Given the description of an element on the screen output the (x, y) to click on. 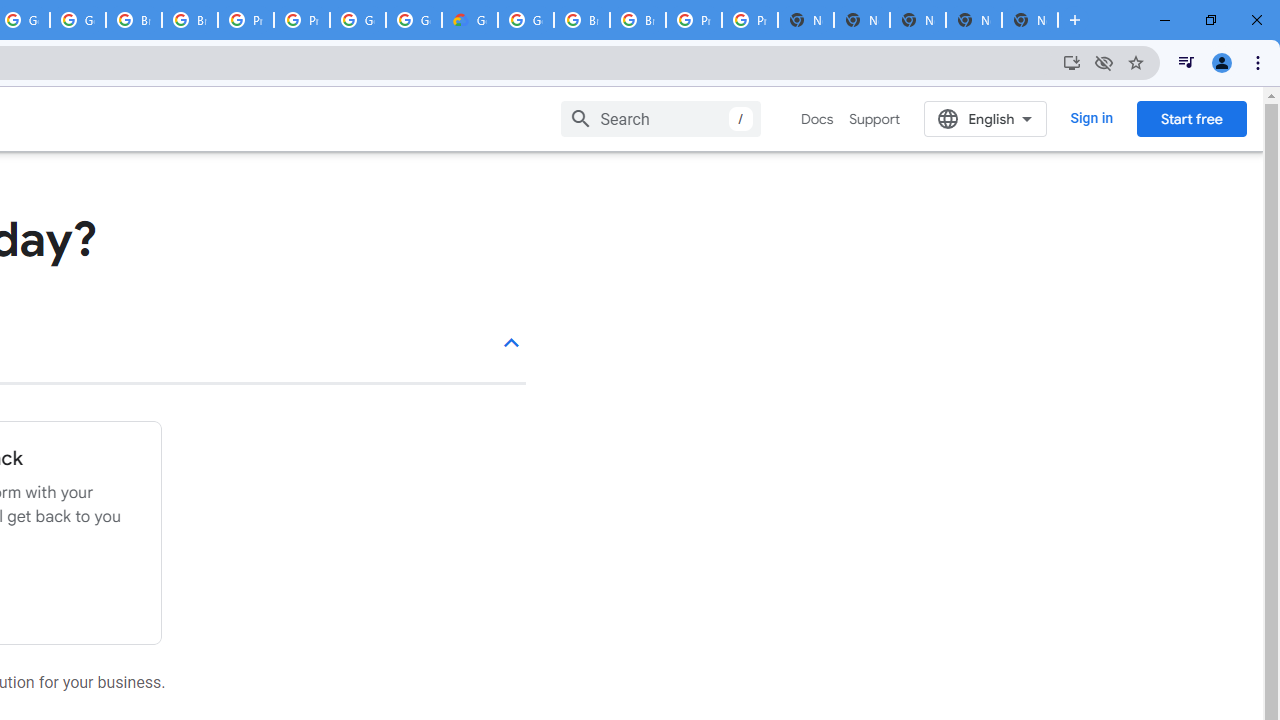
Browse Chrome as a guest - Computer - Google Chrome Help (189, 20)
Google Cloud Platform (358, 20)
Google Cloud Platform (413, 20)
New Tab (1030, 20)
Docs (817, 119)
Google Cloud Estimate Summary (469, 20)
Google Cloud Platform (525, 20)
